Given the description of an element on the screen output the (x, y) to click on. 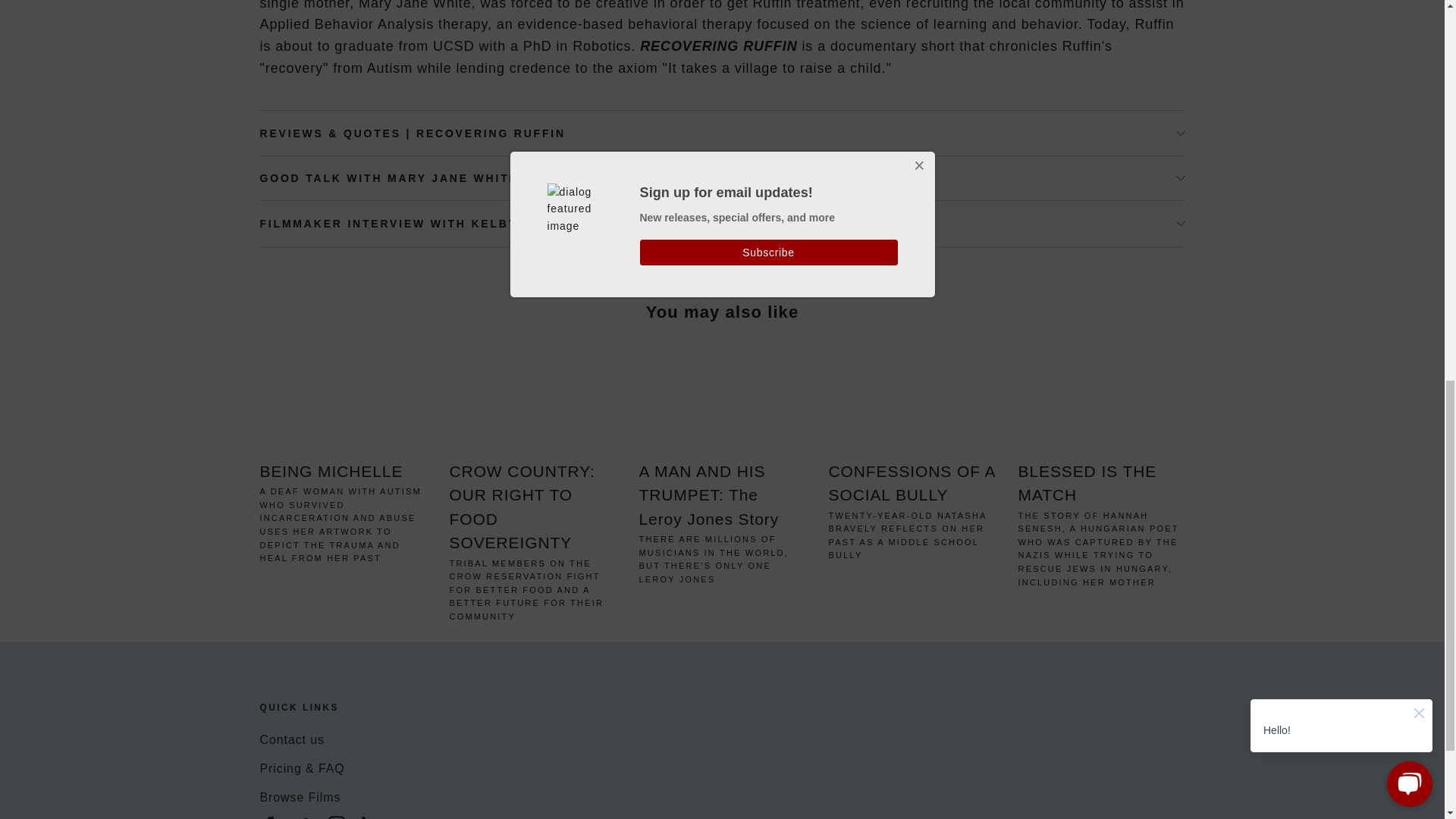
GOOD DOCS on LinkedIn (370, 816)
GOOD DOCS on Twitter (302, 816)
GOOD DOCS on Instagram (336, 816)
GOOD DOCS on Facebook (268, 816)
